Given the description of an element on the screen output the (x, y) to click on. 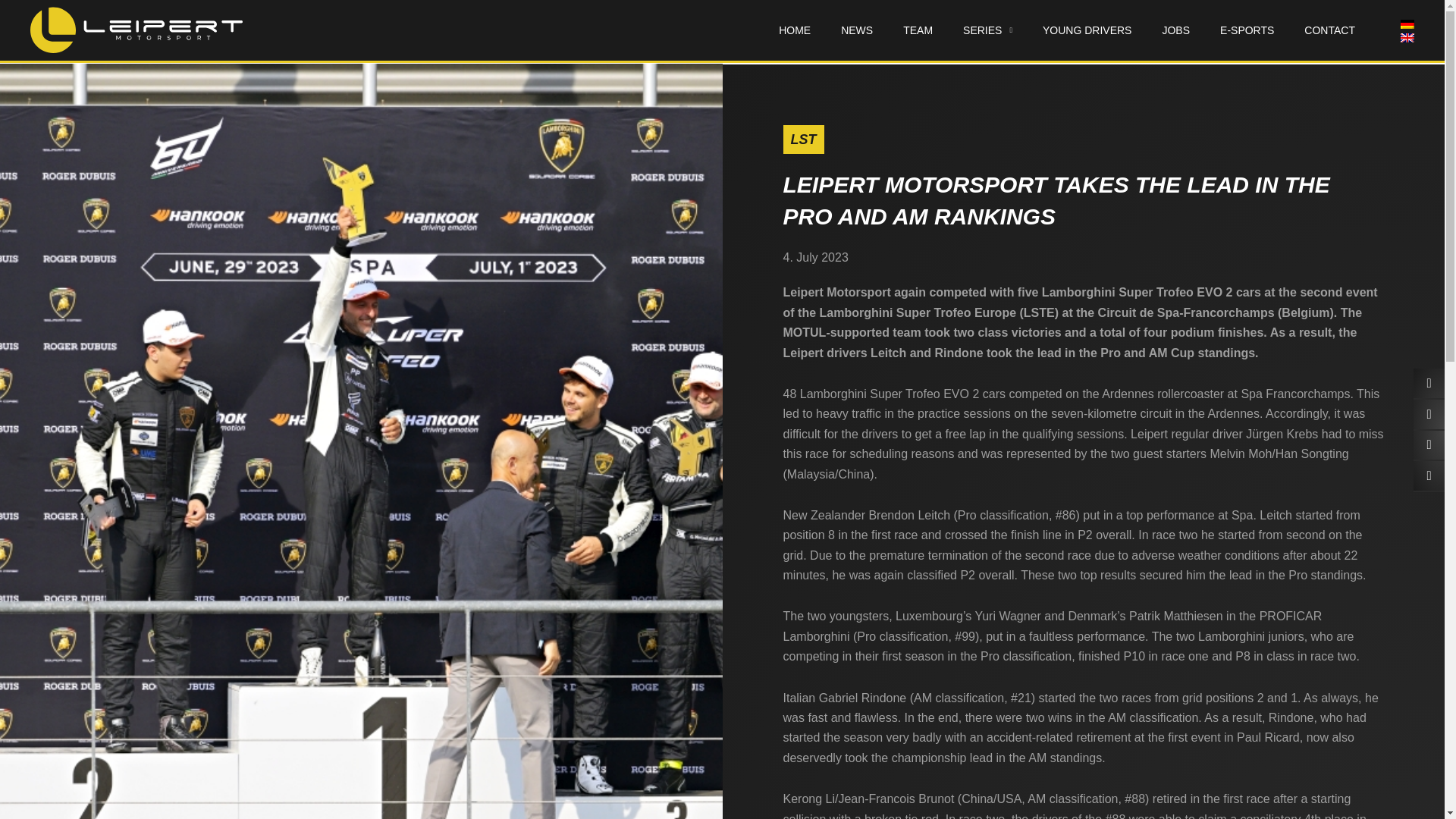
E-SPORTS (1246, 30)
JOBS (1176, 30)
YOUNG DRIVERS (1087, 30)
TEAM (917, 30)
HOME (793, 30)
CONTACT (1329, 30)
SERIES (987, 30)
NEWS (856, 30)
